Given the description of an element on the screen output the (x, y) to click on. 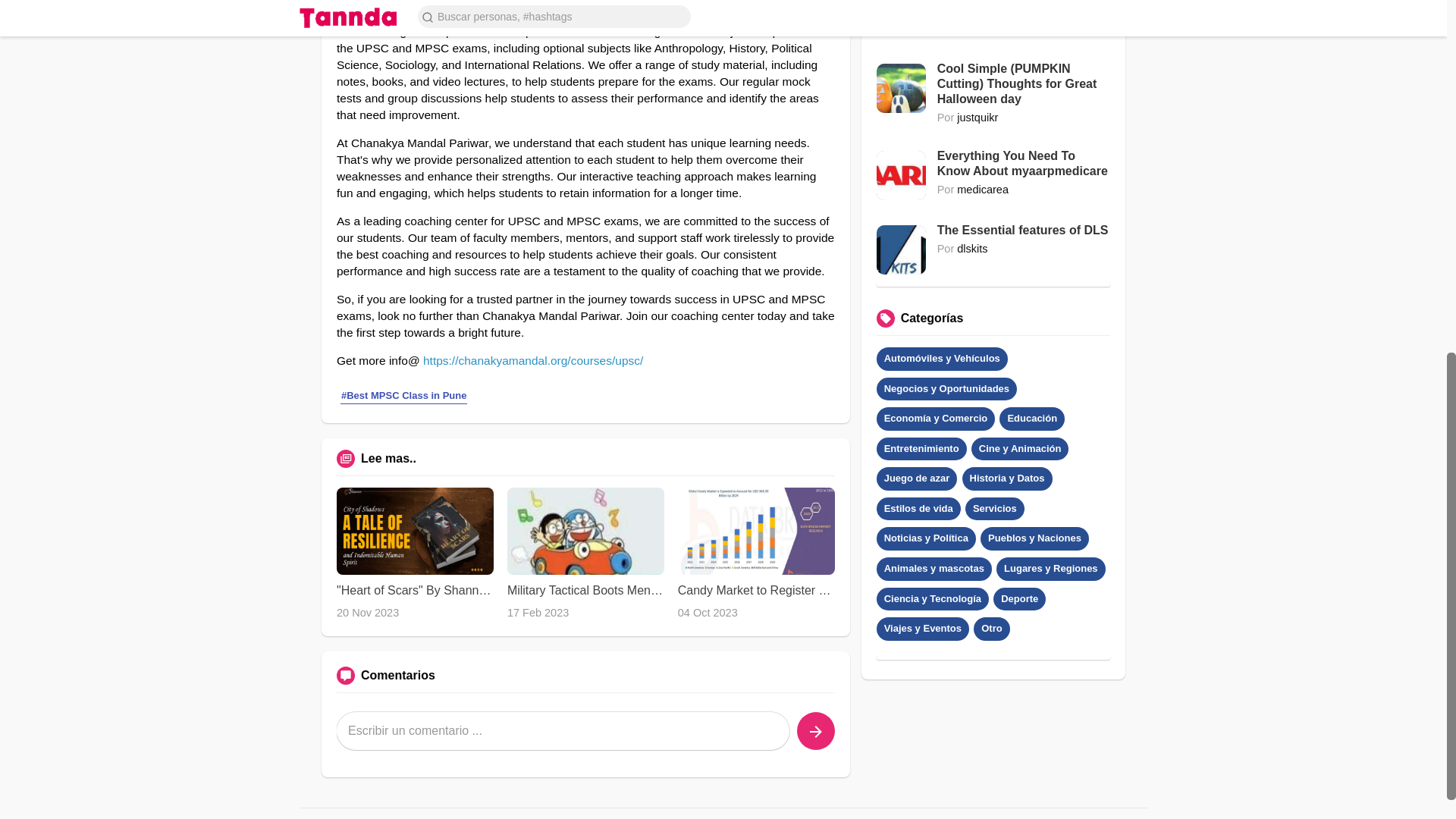
justquikr (976, 117)
Military Tactical Boots Mens manufacturers (584, 590)
Everything You Need To Know About myaarpmedicare (1023, 163)
BEST YOGA MAT HOLDER WALL MOUNT YOGA MAT STORAGE RACK (1023, 10)
The Essential features of DLS (1023, 230)
medicarea (982, 189)
"Heart of Scars" By Shannon Hoffer (414, 590)
Publicacion (815, 730)
bestmatrevie (988, 30)
